Given the description of an element on the screen output the (x, y) to click on. 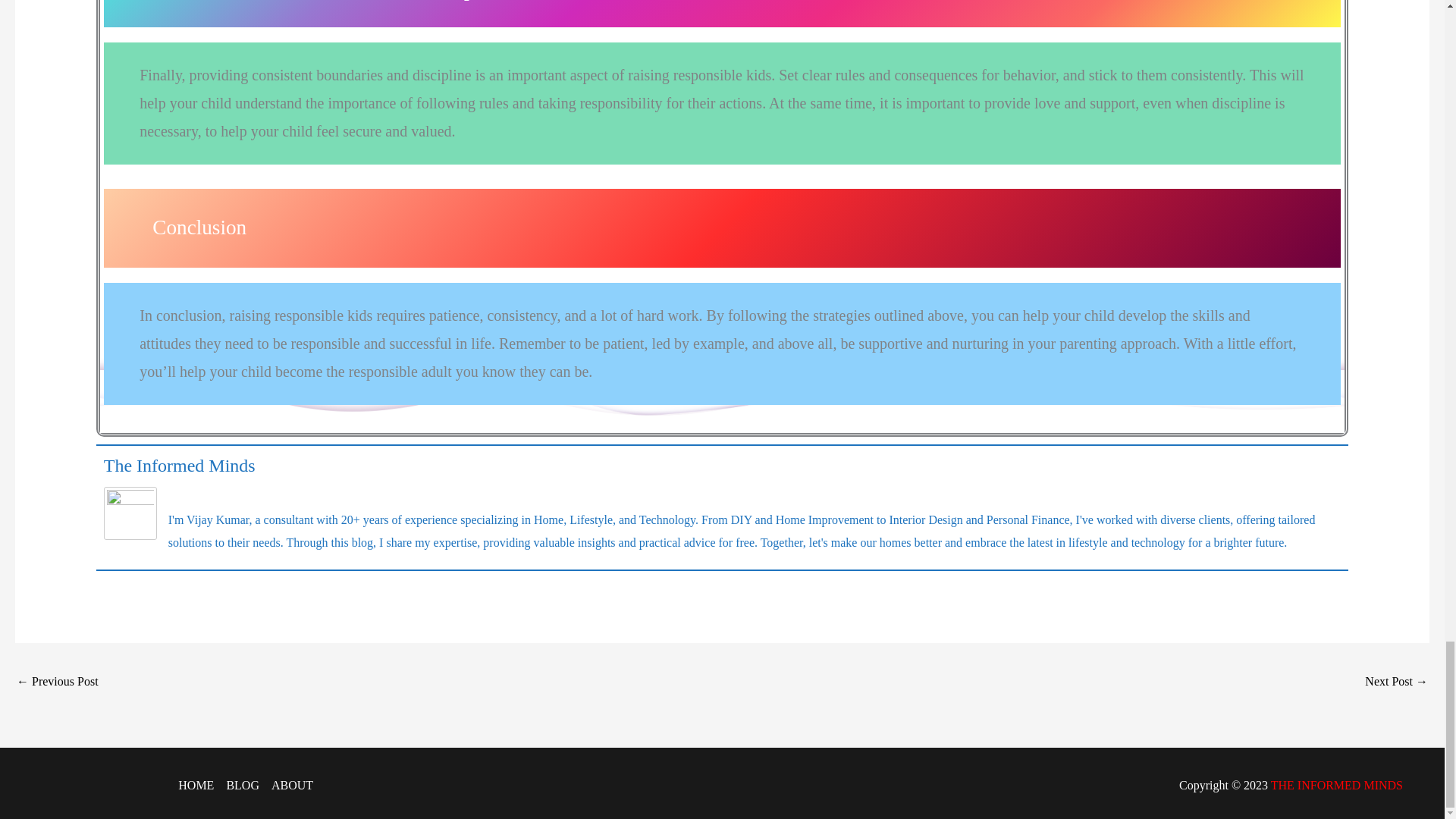
ABOUT (288, 784)
HOME (198, 784)
All posts by The Informed Minds (179, 465)
The Informed Minds (179, 465)
BLOG (241, 784)
